Given the description of an element on the screen output the (x, y) to click on. 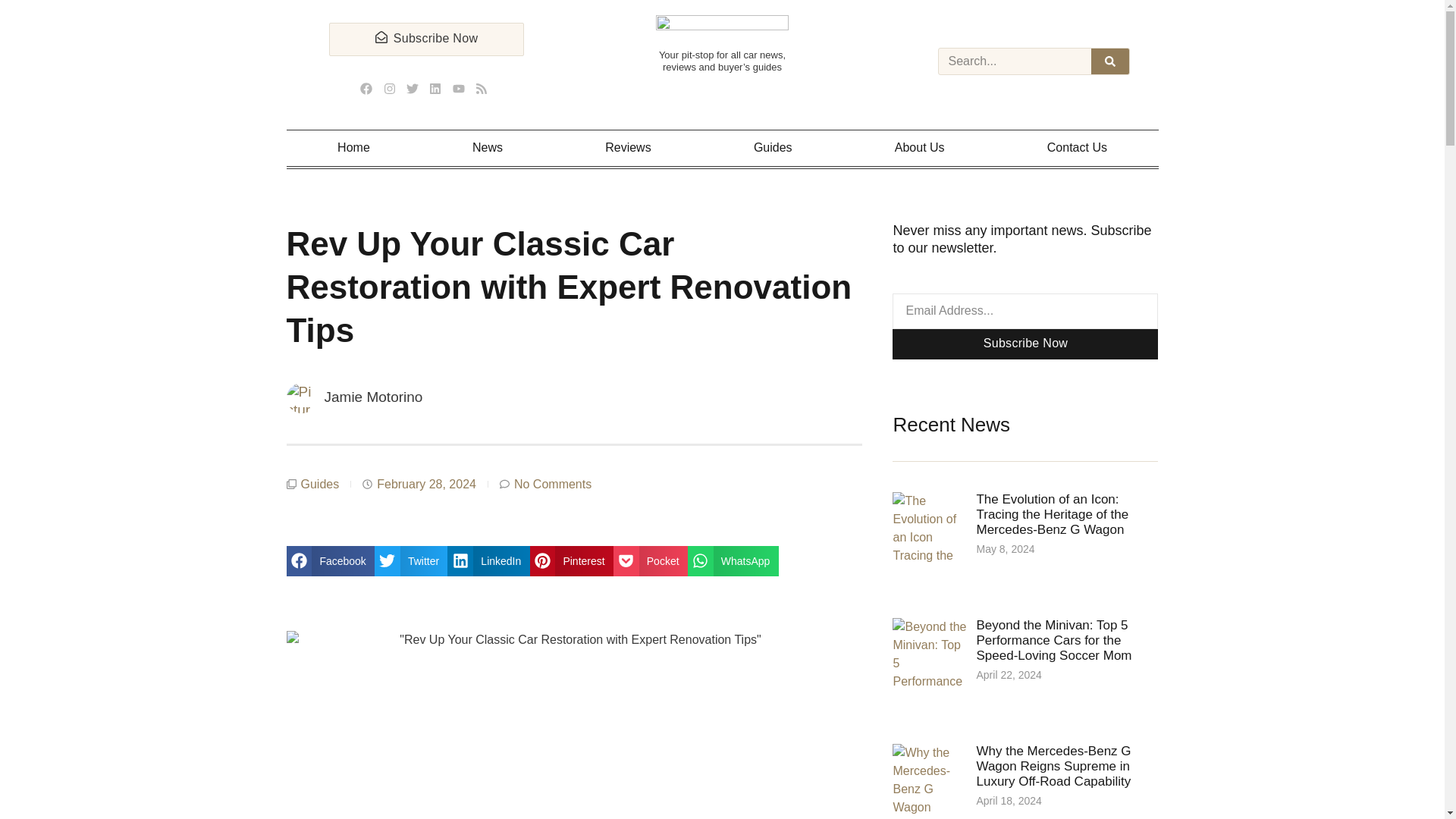
Jamie Motorino (354, 398)
Guides (772, 148)
Guides (319, 483)
Contact Us (1076, 148)
Home (354, 148)
About Us (919, 148)
News (486, 148)
No Comments (545, 484)
February 28, 2024 (419, 484)
Reviews (628, 148)
Subscribe Now (426, 39)
